Given the description of an element on the screen output the (x, y) to click on. 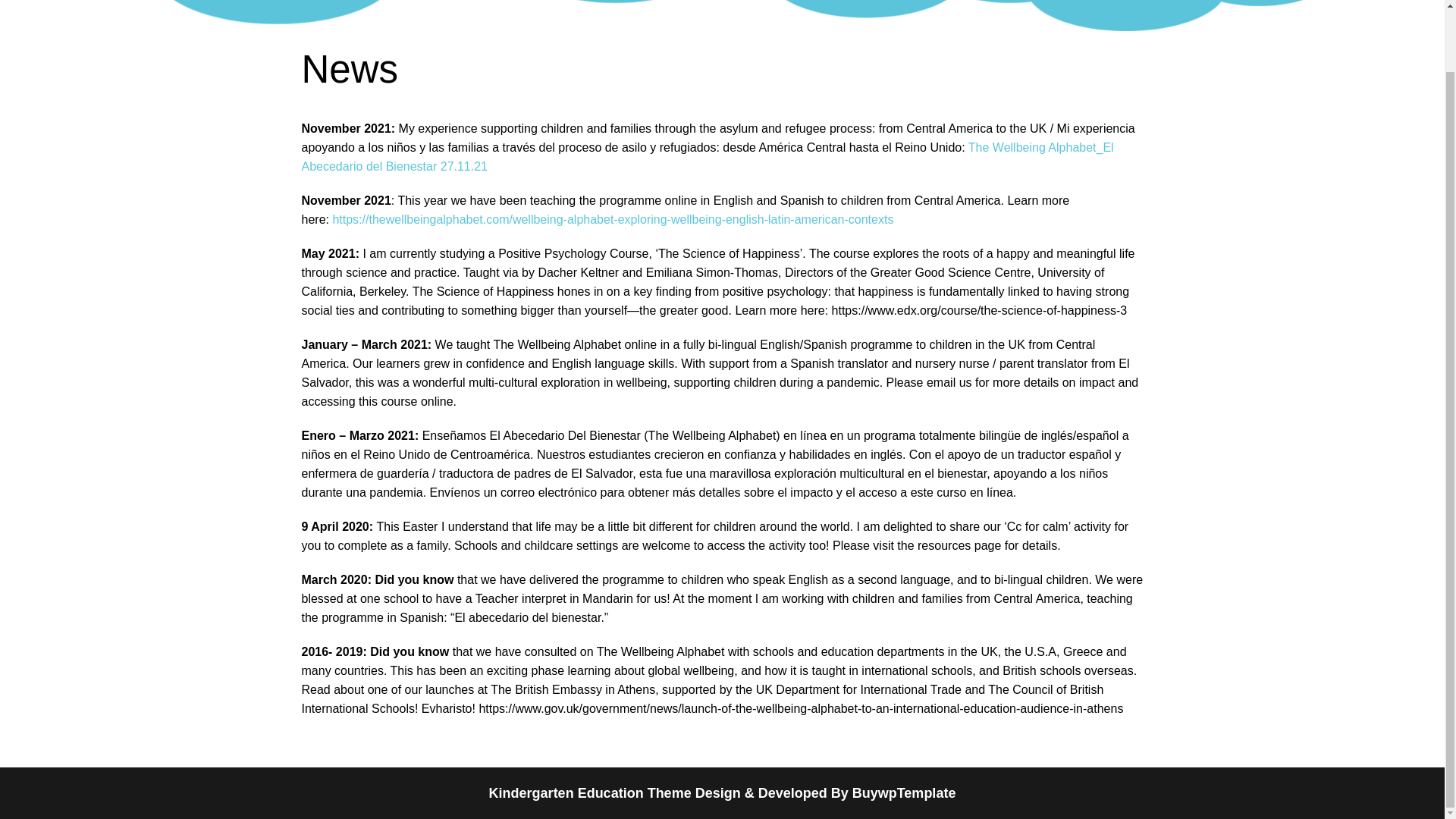
BuywpTemplate (903, 792)
